Given the description of an element on the screen output the (x, y) to click on. 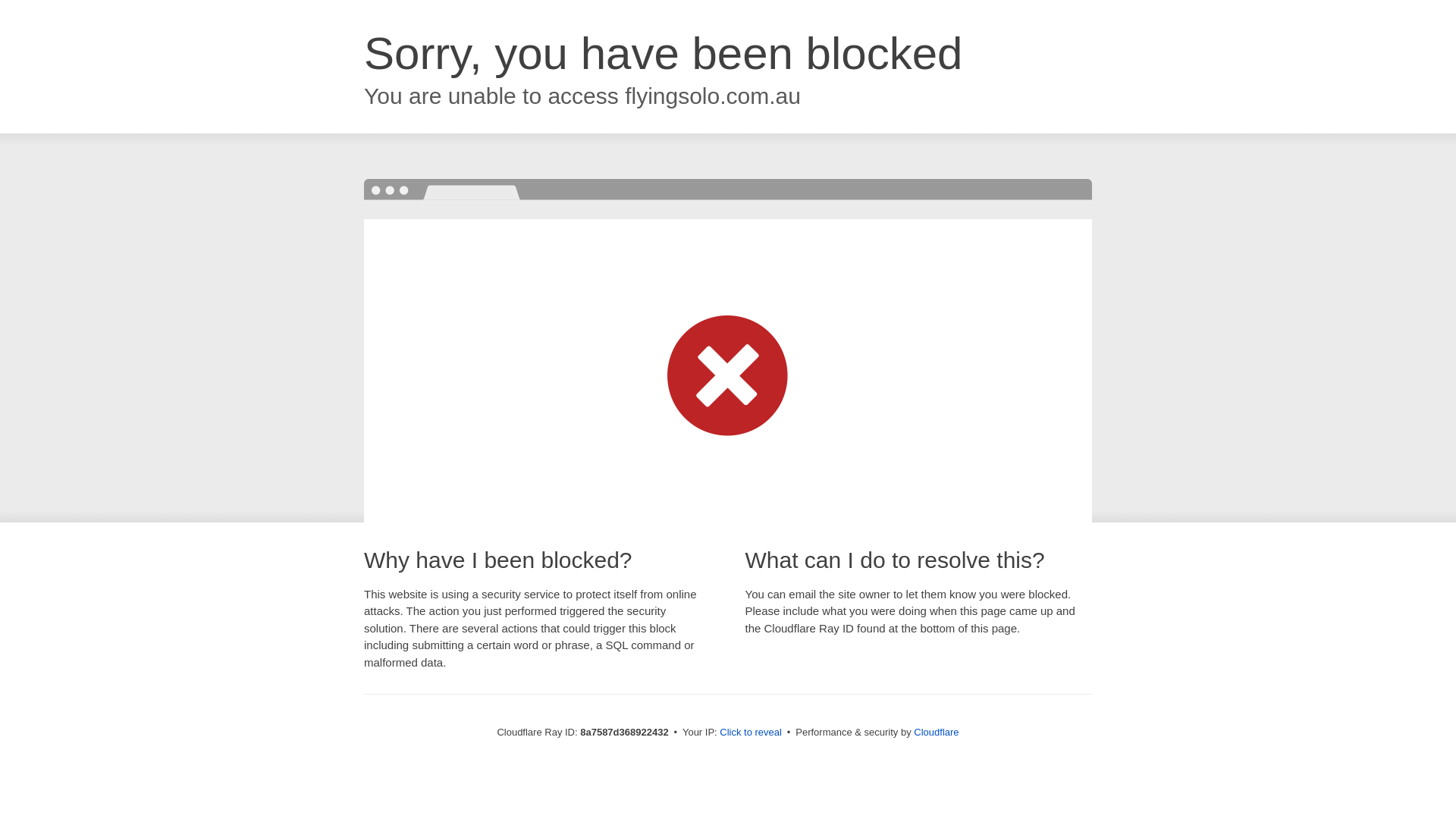
Click to reveal (750, 732)
Cloudflare (936, 731)
